Given the description of an element on the screen output the (x, y) to click on. 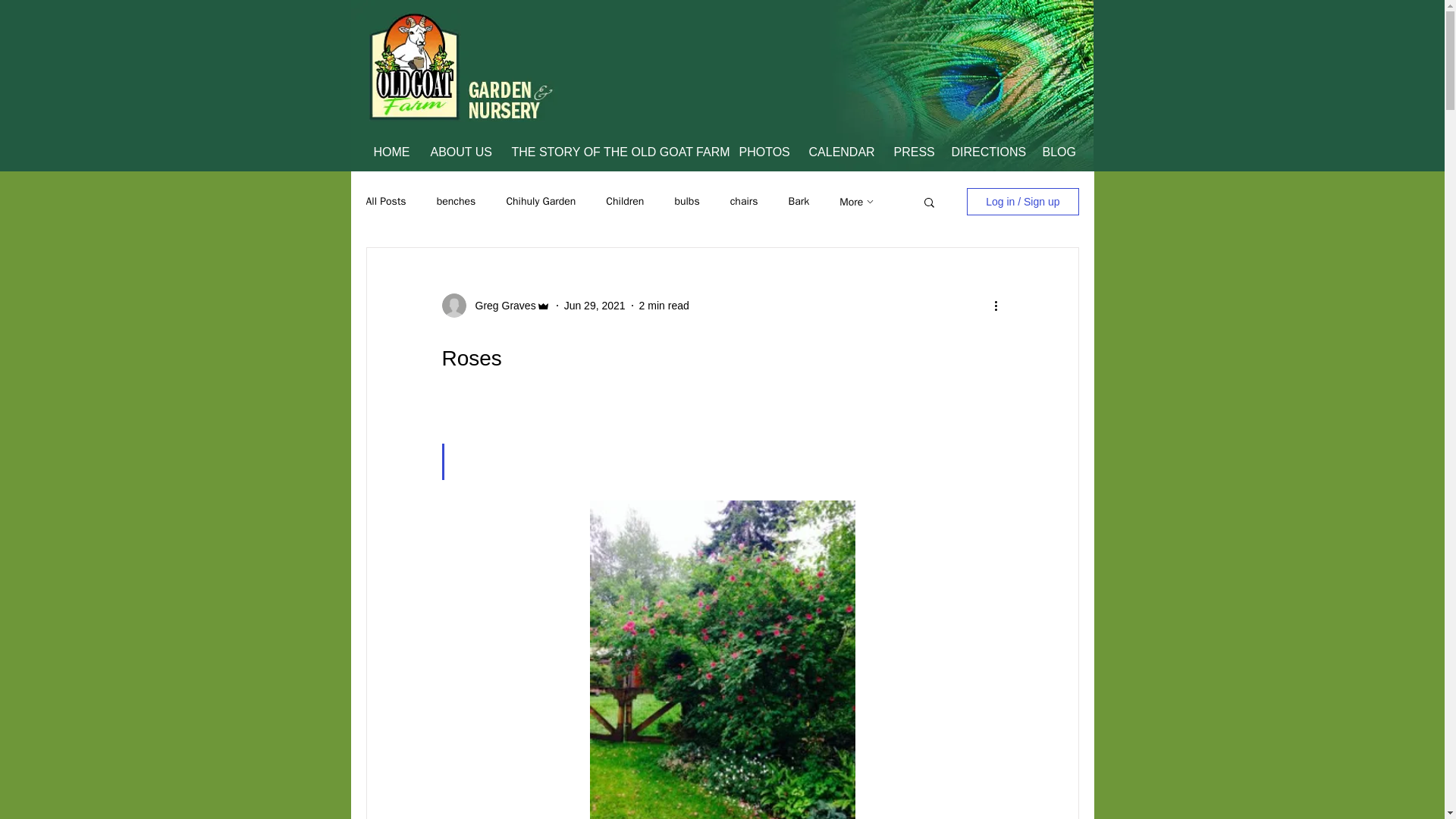
Jun 29, 2021 (595, 304)
All Posts (385, 201)
benches (456, 201)
CALENDAR (839, 152)
chairs (744, 201)
Chihuly Garden (540, 201)
Children (624, 201)
bulbs (686, 201)
DIRECTIONS (985, 152)
BLOG (1057, 152)
THE STORY OF THE OLD GOAT FARM (614, 152)
2 min read (663, 304)
ABOUT US (459, 152)
Greg Graves (500, 304)
HOME (390, 152)
